Given the description of an element on the screen output the (x, y) to click on. 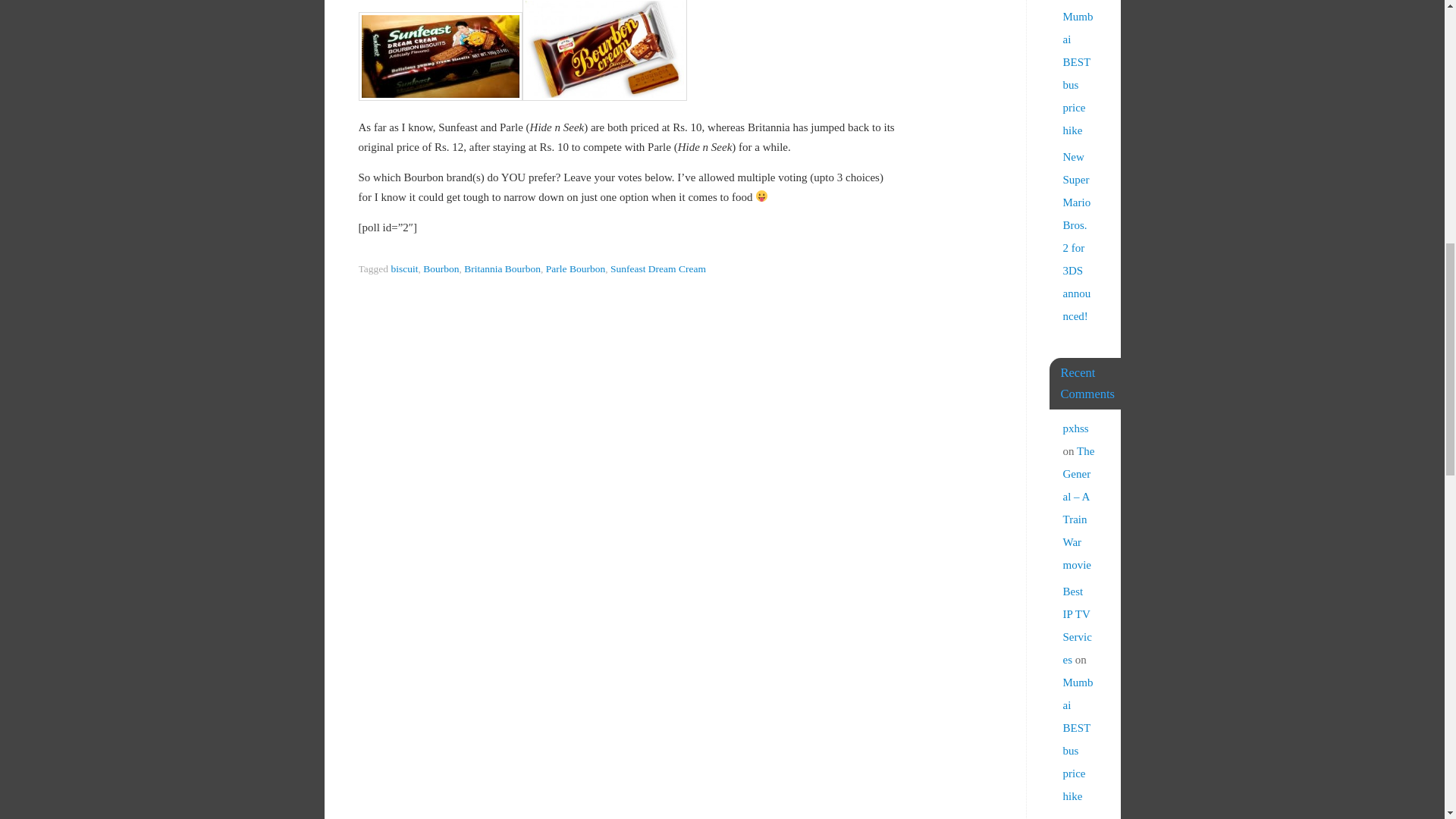
Britannia Bourbon (502, 268)
Best IP TV Services (1077, 817)
Sunfeast Dream Cream Bourbon (439, 56)
Parle Bourbon (575, 268)
pxhss (1075, 428)
biscuit (403, 268)
Sunfeast Dream Cream (658, 268)
Priyagold Bourbon (603, 50)
Bourbon (440, 268)
